Given the description of an element on the screen output the (x, y) to click on. 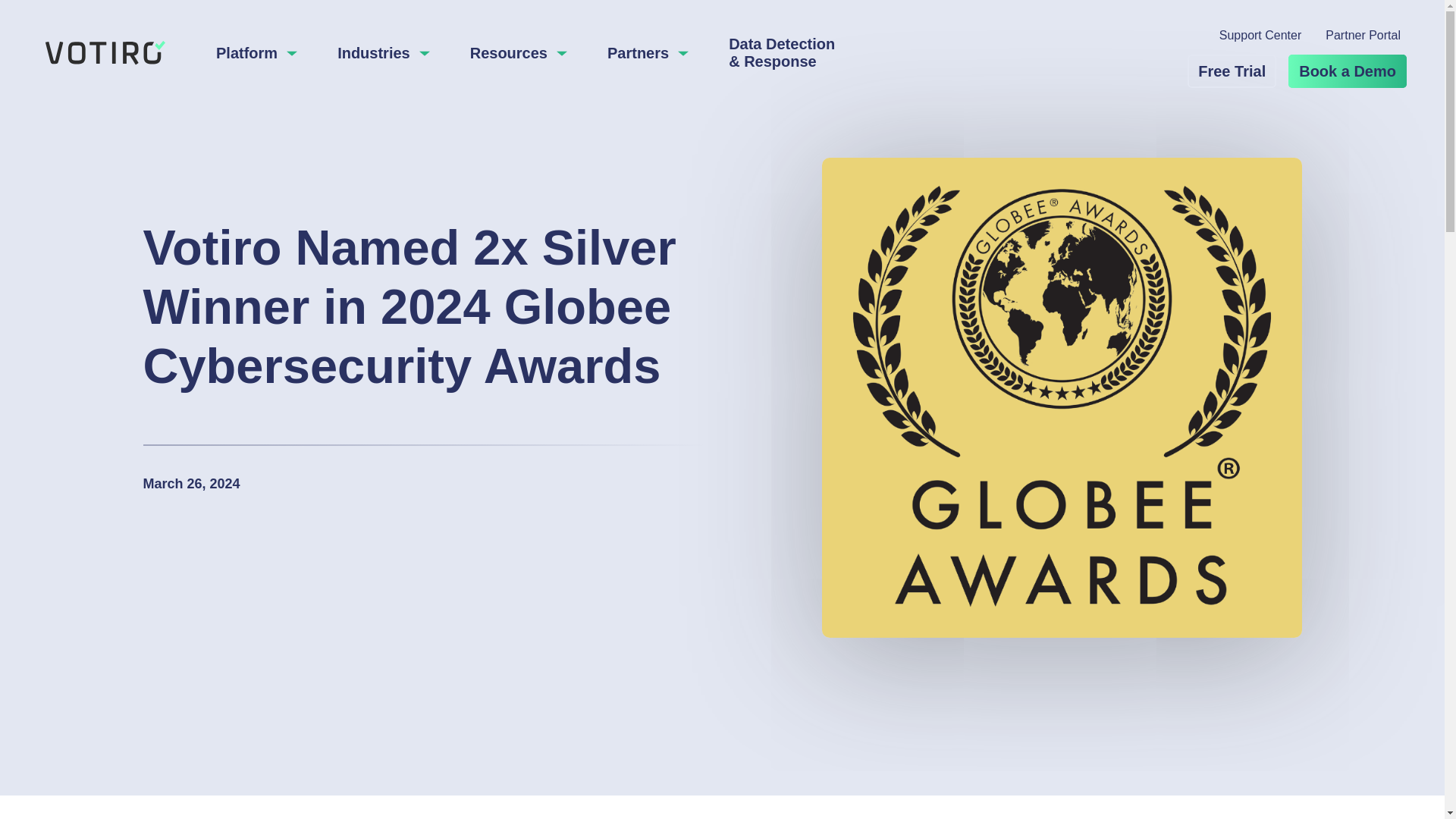
Platform (256, 52)
